Given the description of an element on the screen output the (x, y) to click on. 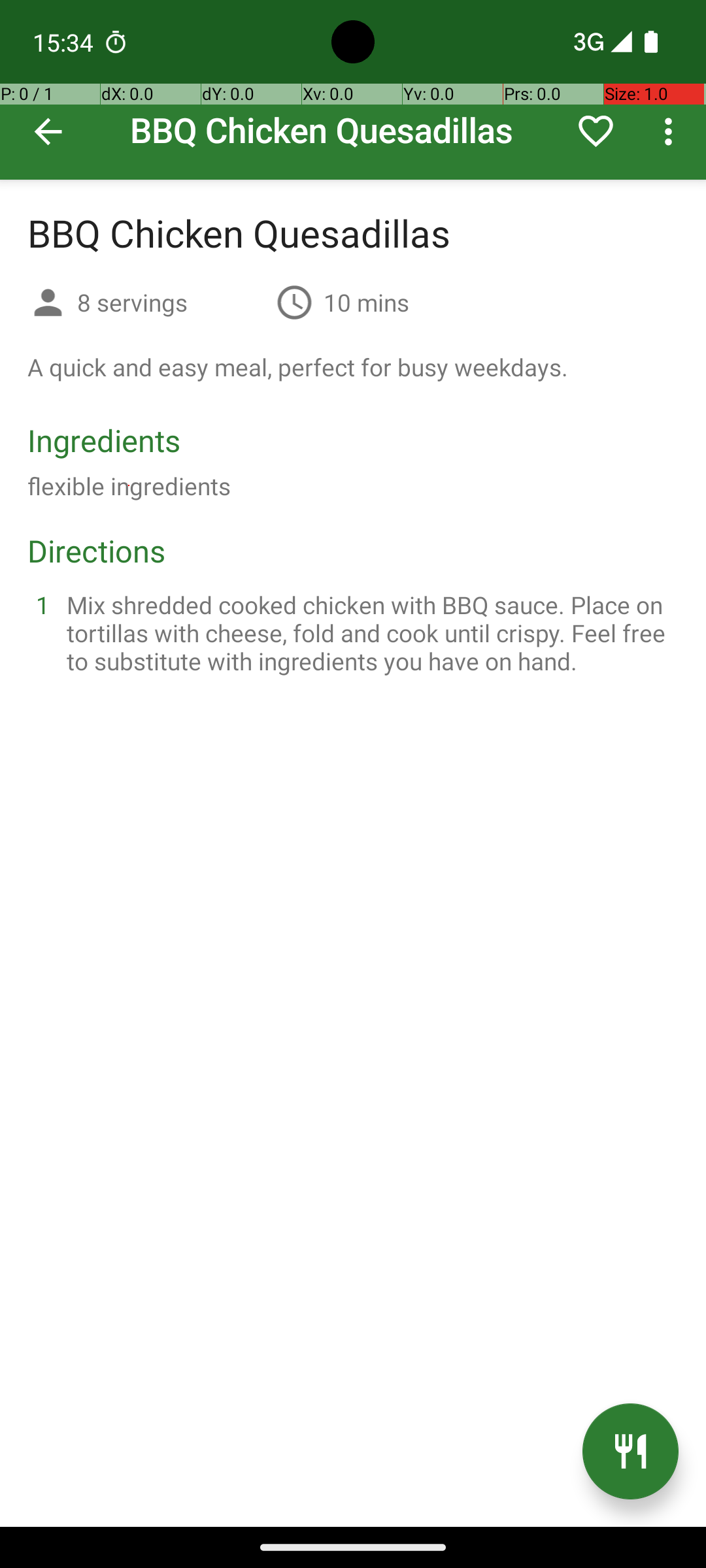
Mix shredded cooked chicken with BBQ sauce. Place on tortillas with cheese, fold and cook until crispy. Feel free to substitute with ingredients you have on hand. Element type: android.widget.TextView (368, 632)
